Given the description of an element on the screen output the (x, y) to click on. 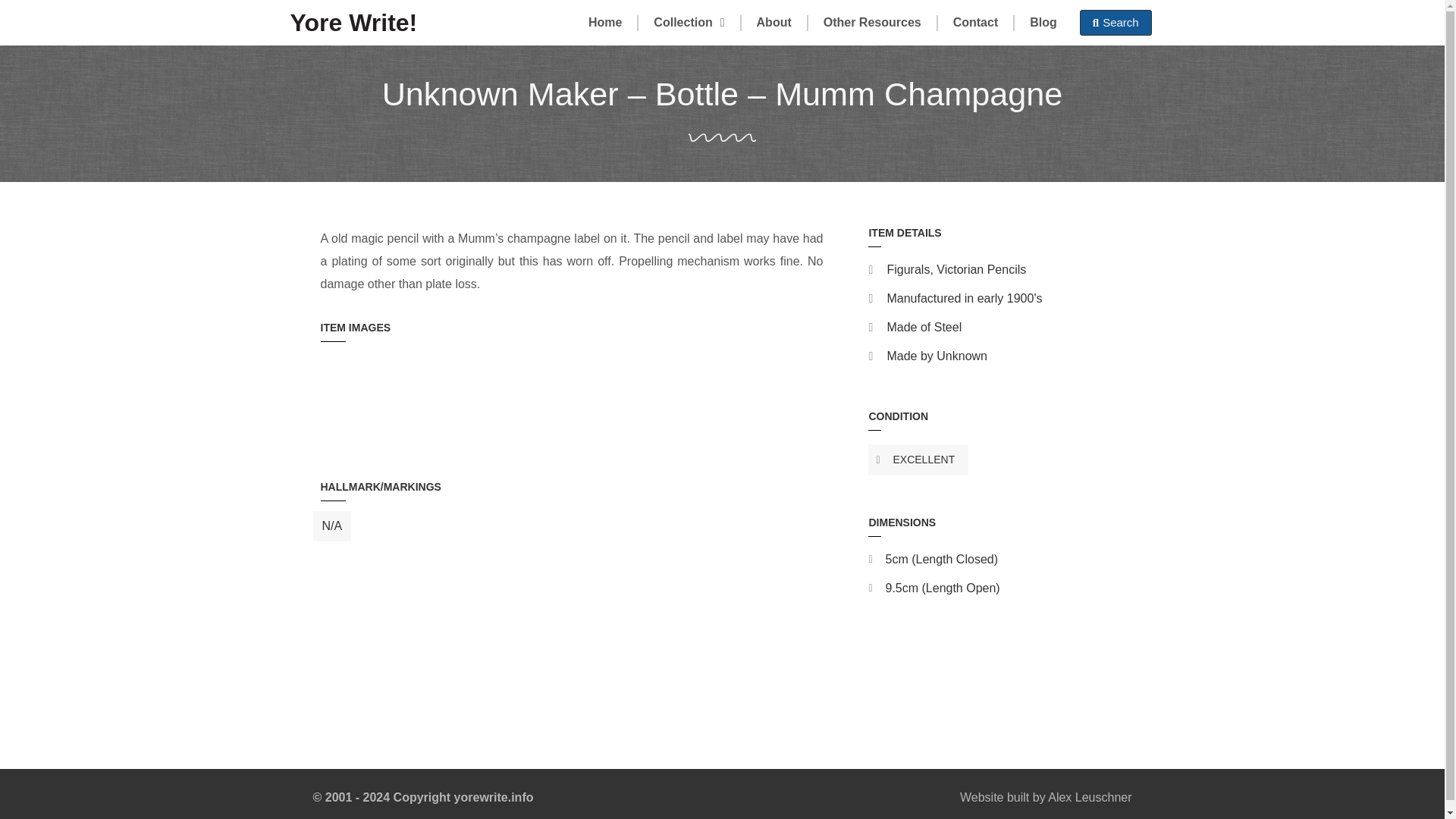
Other Resources (872, 22)
About (773, 22)
Yore Write! (352, 22)
Home (605, 22)
Collection (689, 22)
